Given the description of an element on the screen output the (x, y) to click on. 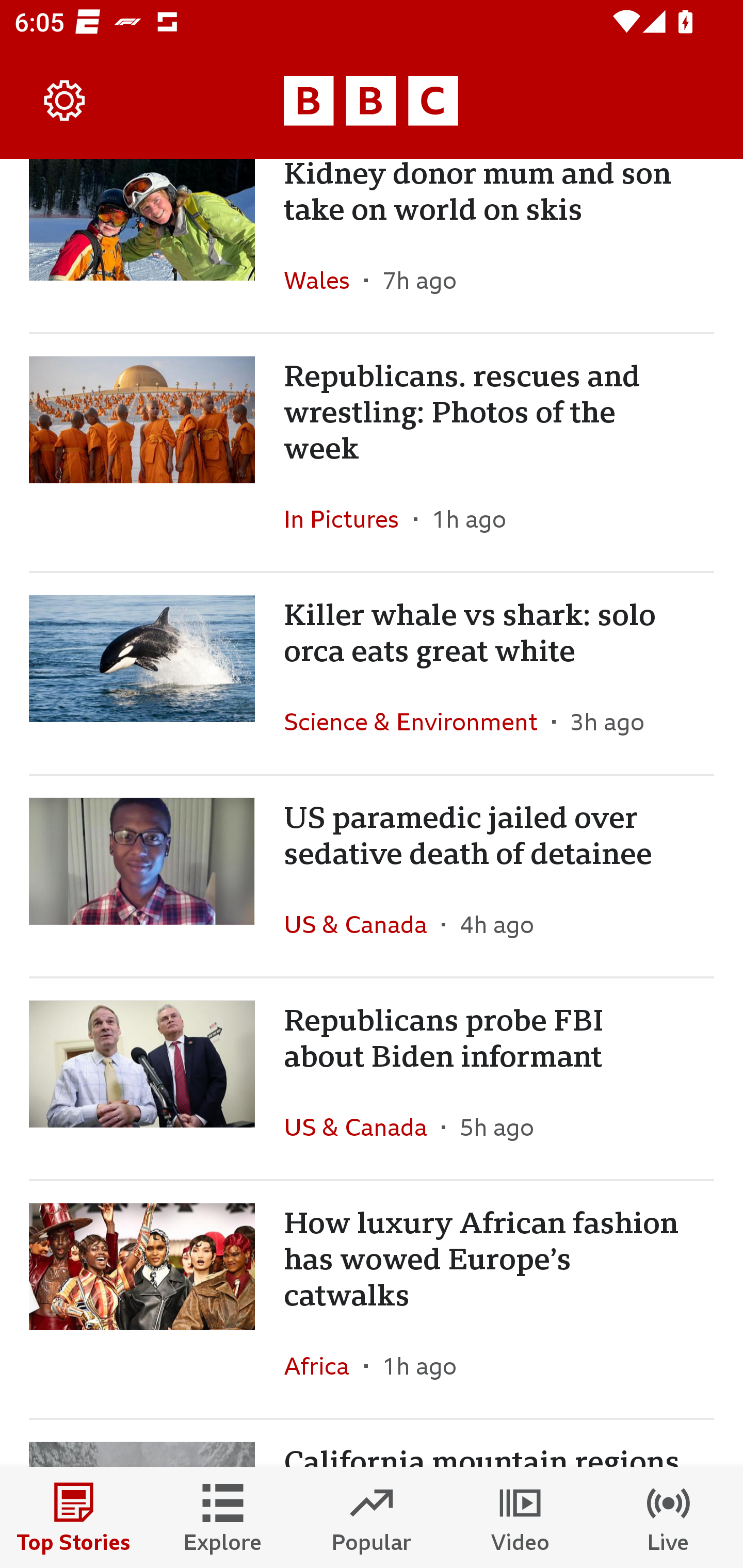
Settings (64, 100)
Wales In the section Wales (323, 279)
In Pictures In the section In Pictures (348, 518)
US & Canada In the section US & Canada (362, 923)
US & Canada In the section US & Canada (362, 1127)
Africa In the section Africa (323, 1365)
Explore (222, 1517)
Popular (371, 1517)
Video (519, 1517)
Live (668, 1517)
